Given the description of an element on the screen output the (x, y) to click on. 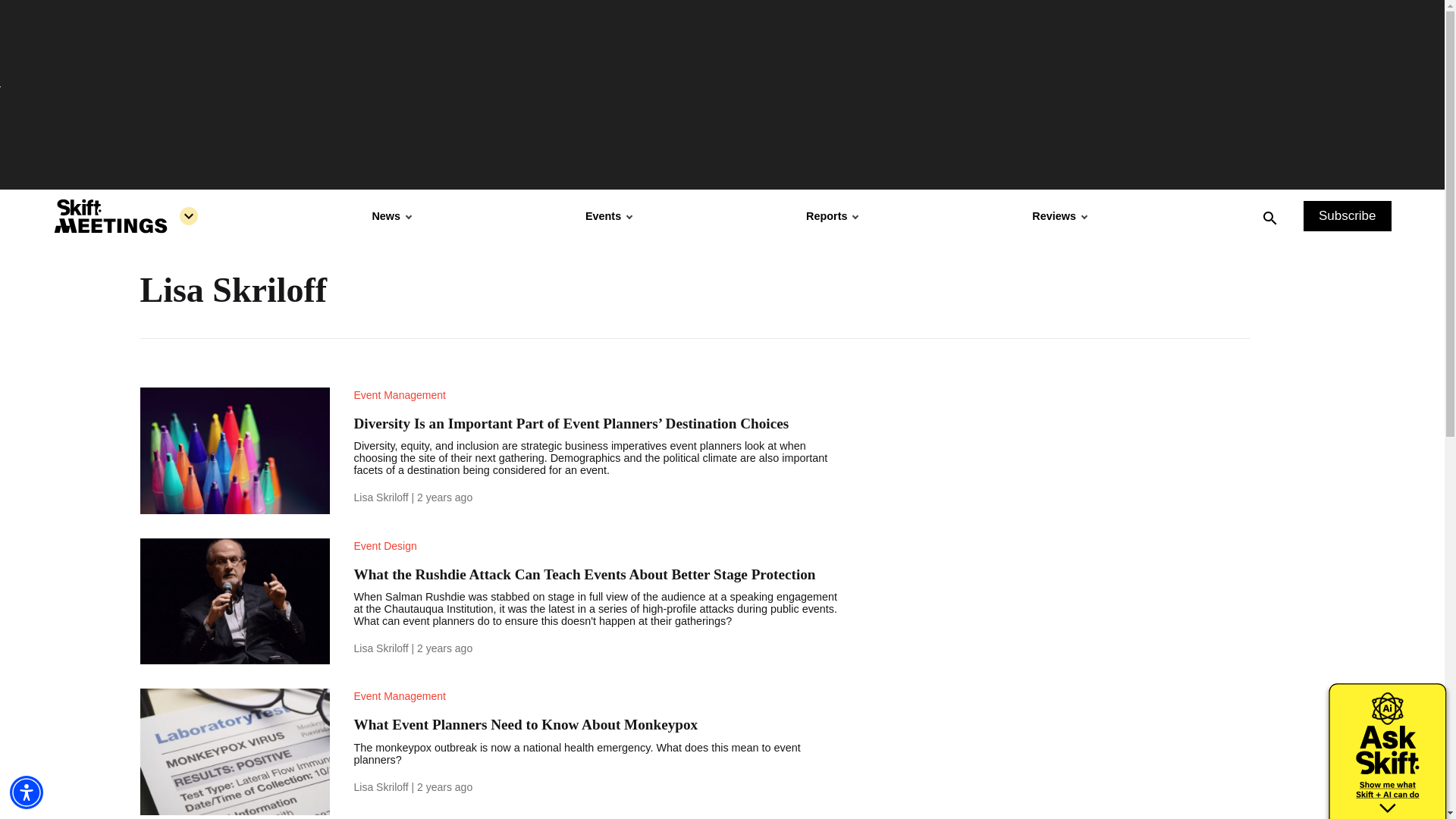
Accessibility Menu (26, 792)
3rd party ad content (1135, 482)
Reports (831, 215)
Reviews (1059, 215)
Subscribe (1347, 215)
